Given the description of an element on the screen output the (x, y) to click on. 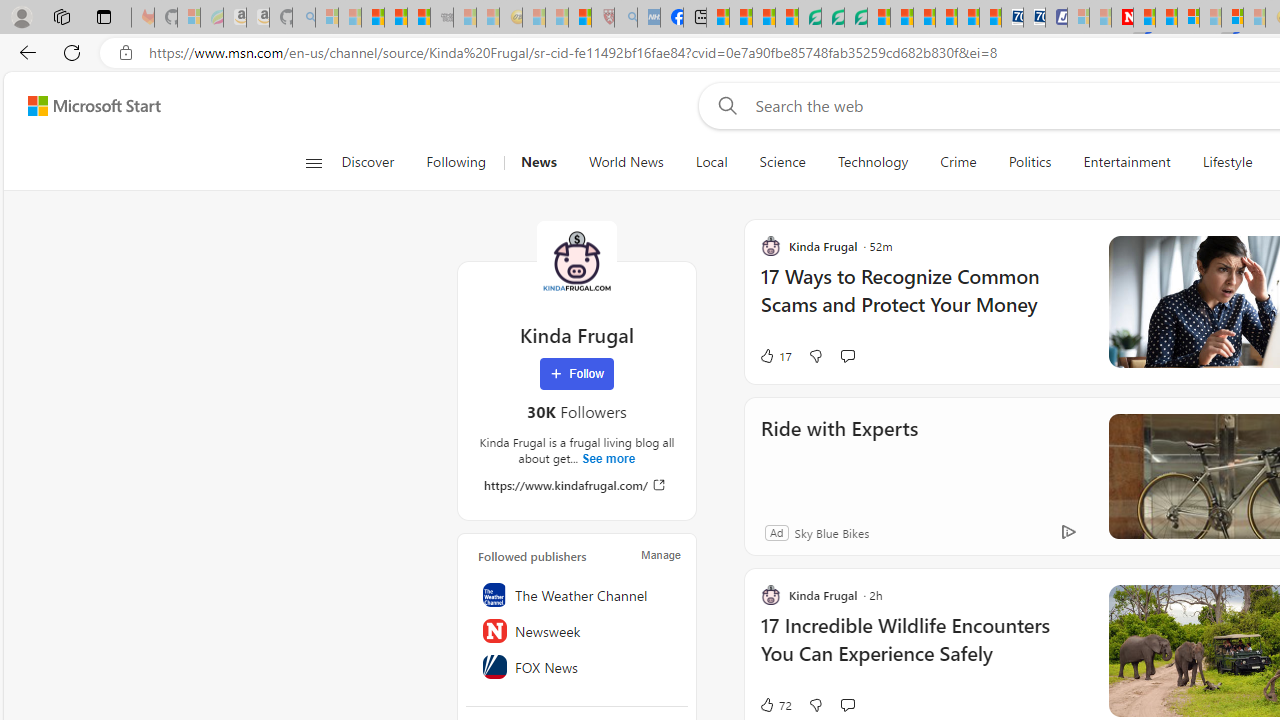
Open navigation menu (313, 162)
MSNBC - MSN (717, 17)
Start the conversation (847, 704)
New Report Confirms 2023 Was Record Hot | Watch (419, 17)
Lifestyle (1227, 162)
Sky Blue Bikes (831, 532)
Crime (958, 162)
Following (457, 162)
14 Common Myths Debunked By Scientific Facts (1166, 17)
Ride with Experts (838, 455)
